Given the description of an element on the screen output the (x, y) to click on. 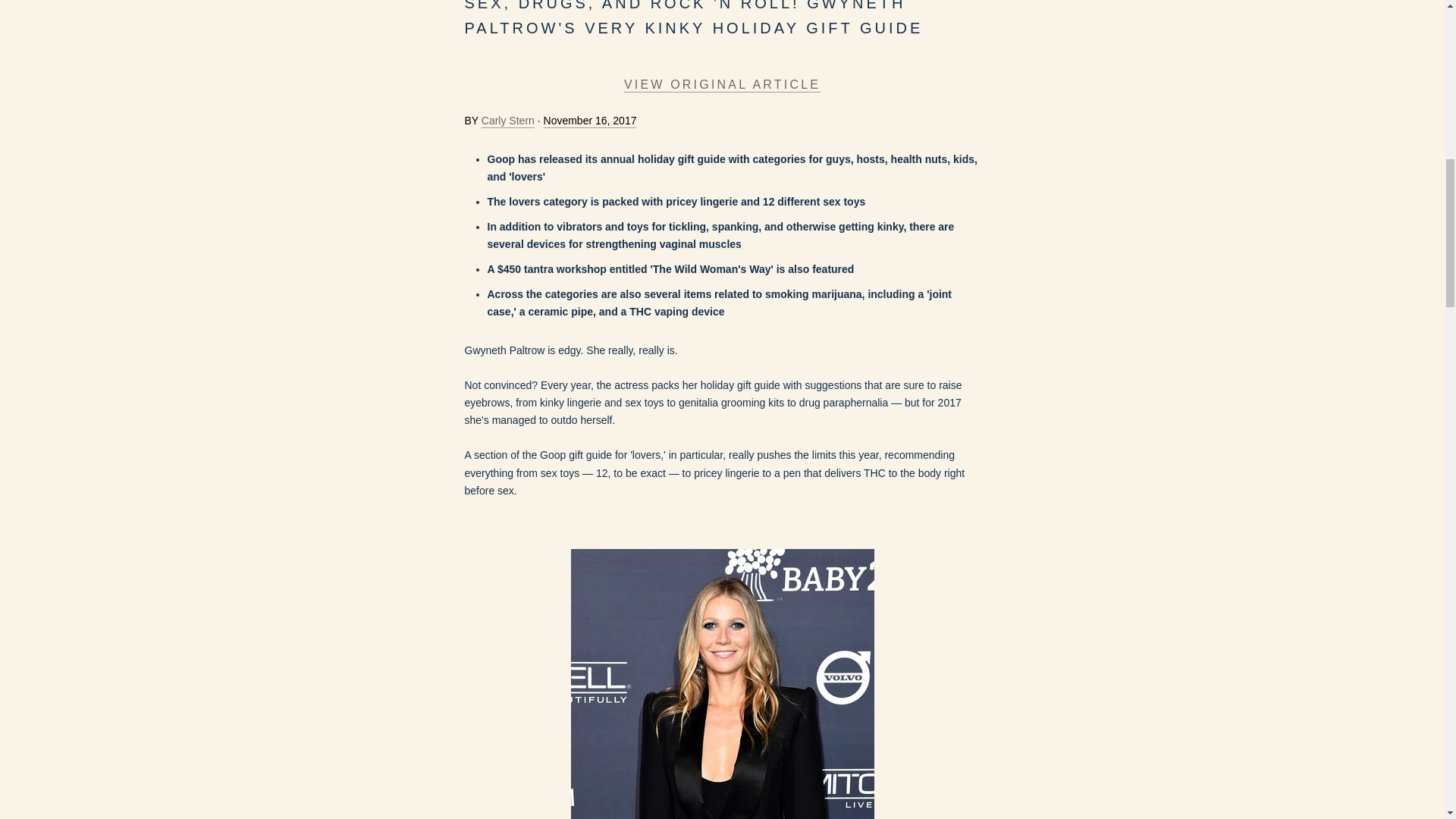
Carly Stern (507, 120)
November 16, 2017 (590, 120)
VIEW ORIGINAL ARTICLE (722, 83)
